Given the description of an element on the screen output the (x, y) to click on. 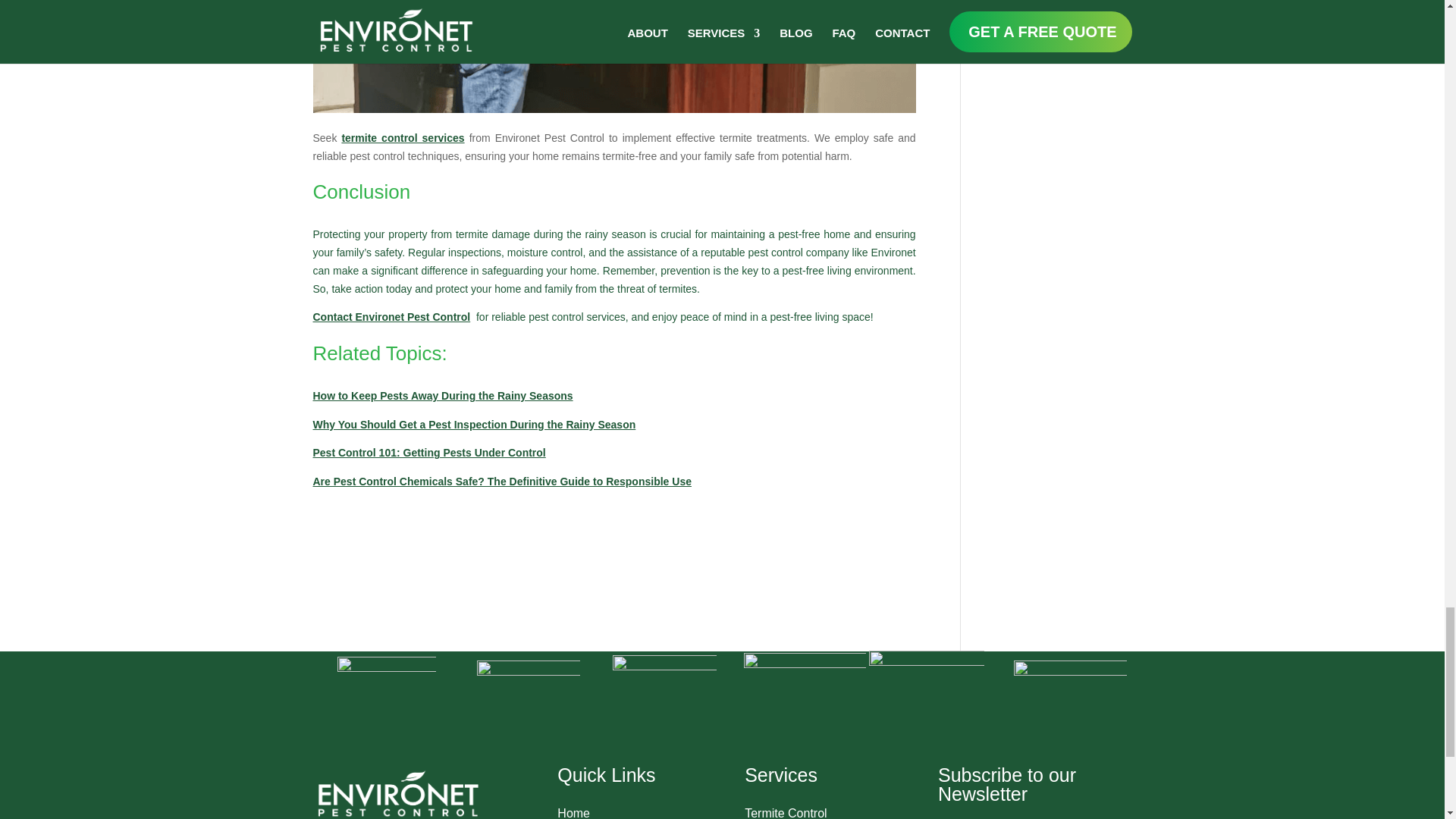
Pest Control Association of the Visayas White Logo (805, 713)
Contact Environet Pest Control (391, 316)
NPMA Logo (385, 705)
Why You Should Get a Pest Inspection During the Rainy Season (473, 424)
termite control services (402, 137)
Schedule Professional Termite Treatments (614, 56)
NCLPMOAI White Logo (528, 711)
How to Keep Pests Away During the Rainy Seasons (442, 395)
FAOPMA Logo (1069, 716)
